Given the description of an element on the screen output the (x, y) to click on. 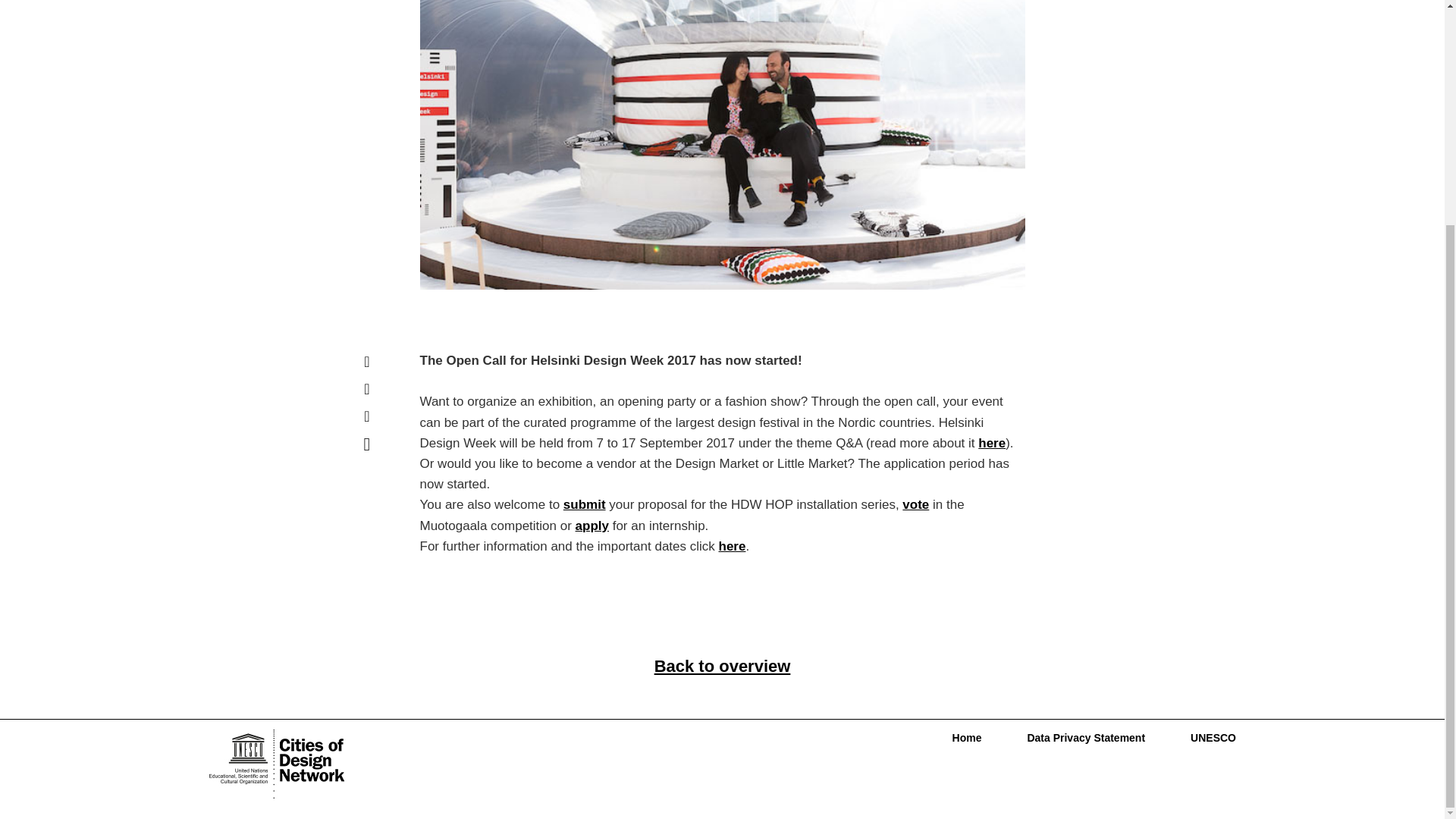
here (732, 545)
Back to overview (721, 665)
vote (915, 504)
here (992, 442)
Data Privacy Statement (1085, 737)
submit (584, 504)
UNESCO (1201, 737)
Home (967, 737)
apply (591, 525)
